Given the description of an element on the screen output the (x, y) to click on. 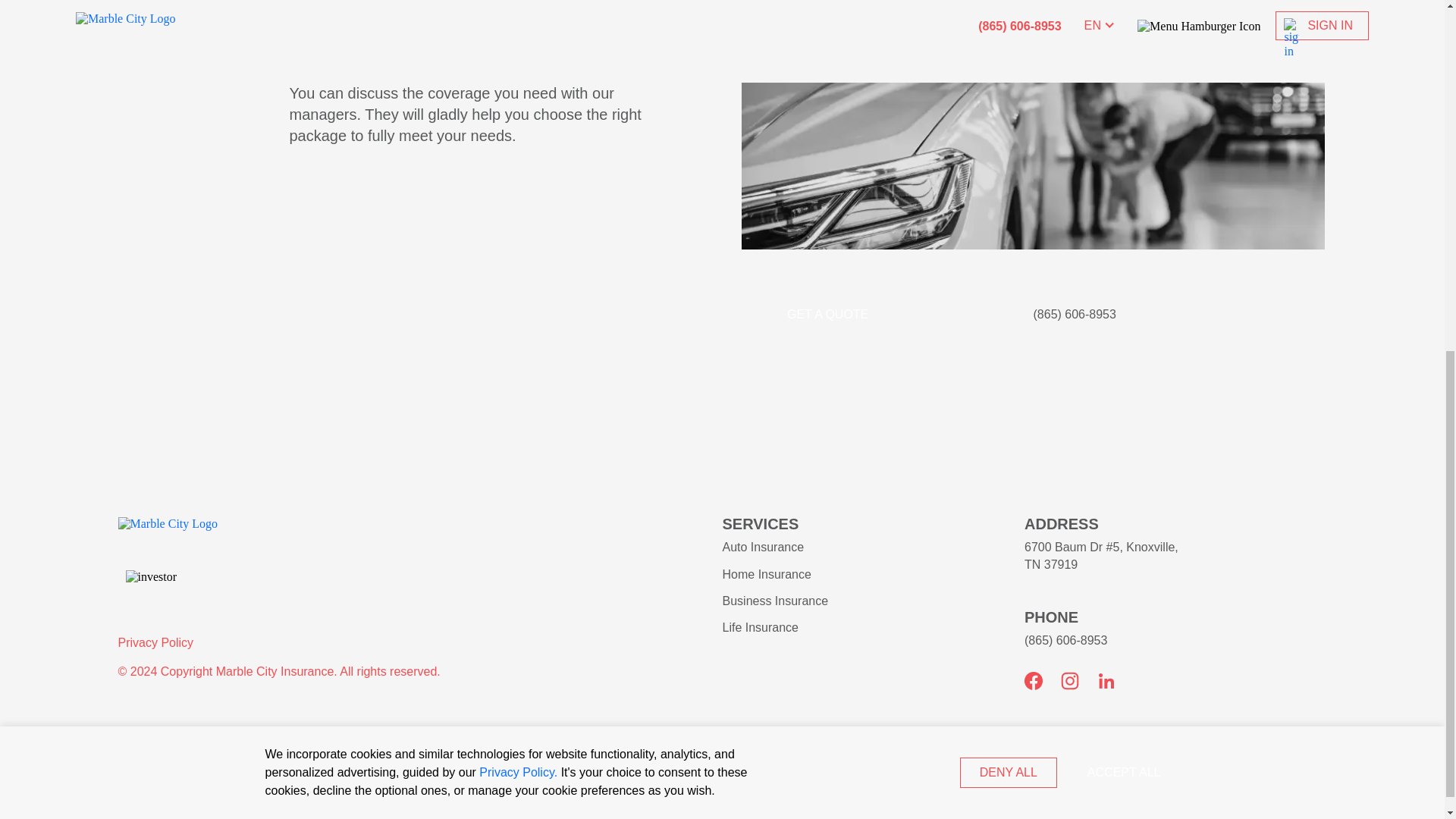
Privacy Policy. (518, 146)
Auto Insurance (762, 546)
GET A QUOTE (827, 314)
Home Insurance (766, 574)
Business Insurance (775, 600)
Life Insurance (759, 626)
ACCEPT ALL (1123, 147)
DENY ALL (1008, 147)
Privacy Policy (155, 642)
